Given the description of an element on the screen output the (x, y) to click on. 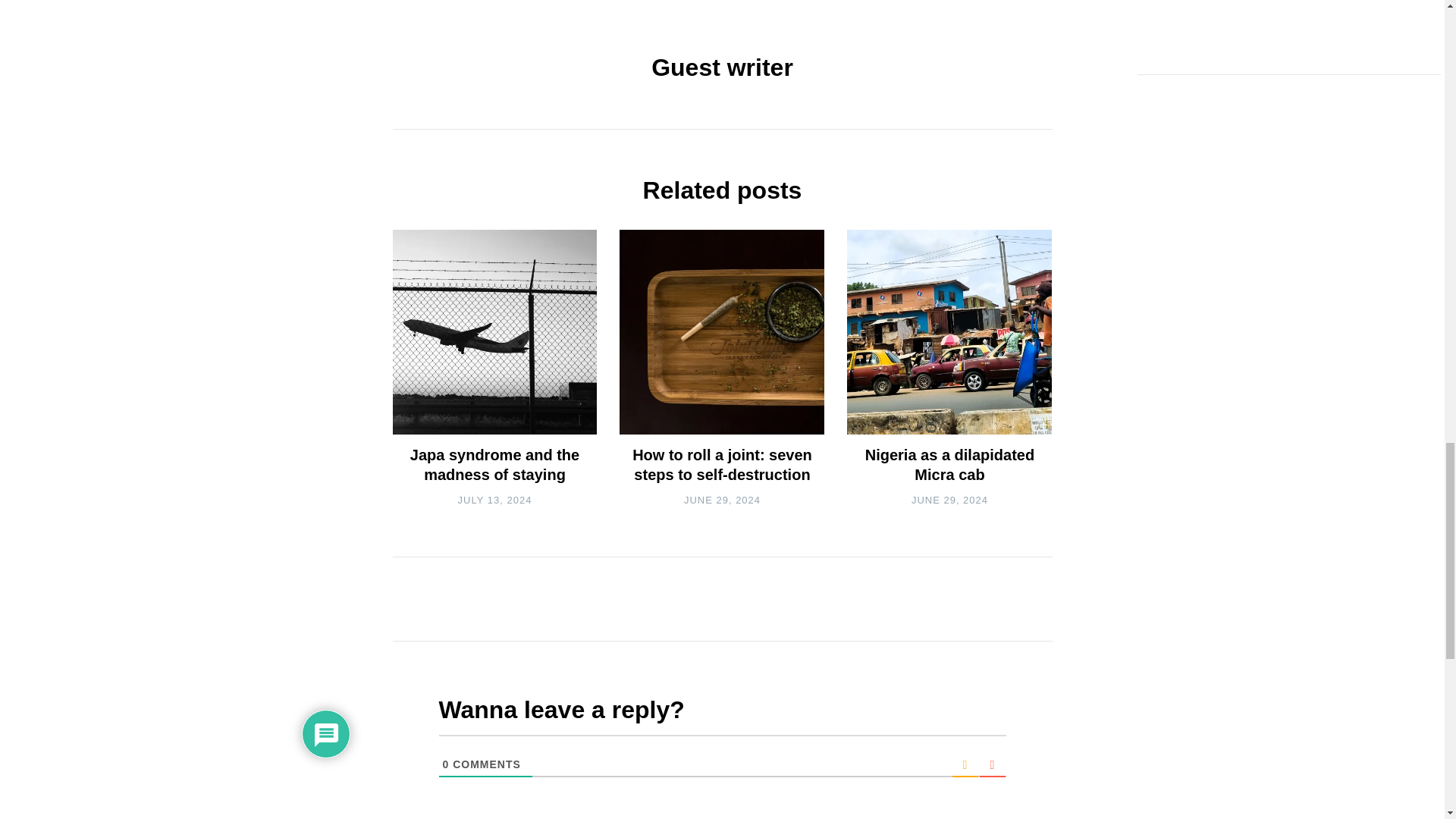
Guest writer (721, 67)
JULY 13, 2024 (495, 500)
Japa syndrome and the madness of staying (494, 464)
How to roll a joint: seven steps to self-destruction (721, 464)
Nigeria as a dilapidated Micra cab (948, 464)
0 (445, 764)
JUNE 29, 2024 (722, 500)
JUNE 29, 2024 (949, 500)
